Given the description of an element on the screen output the (x, y) to click on. 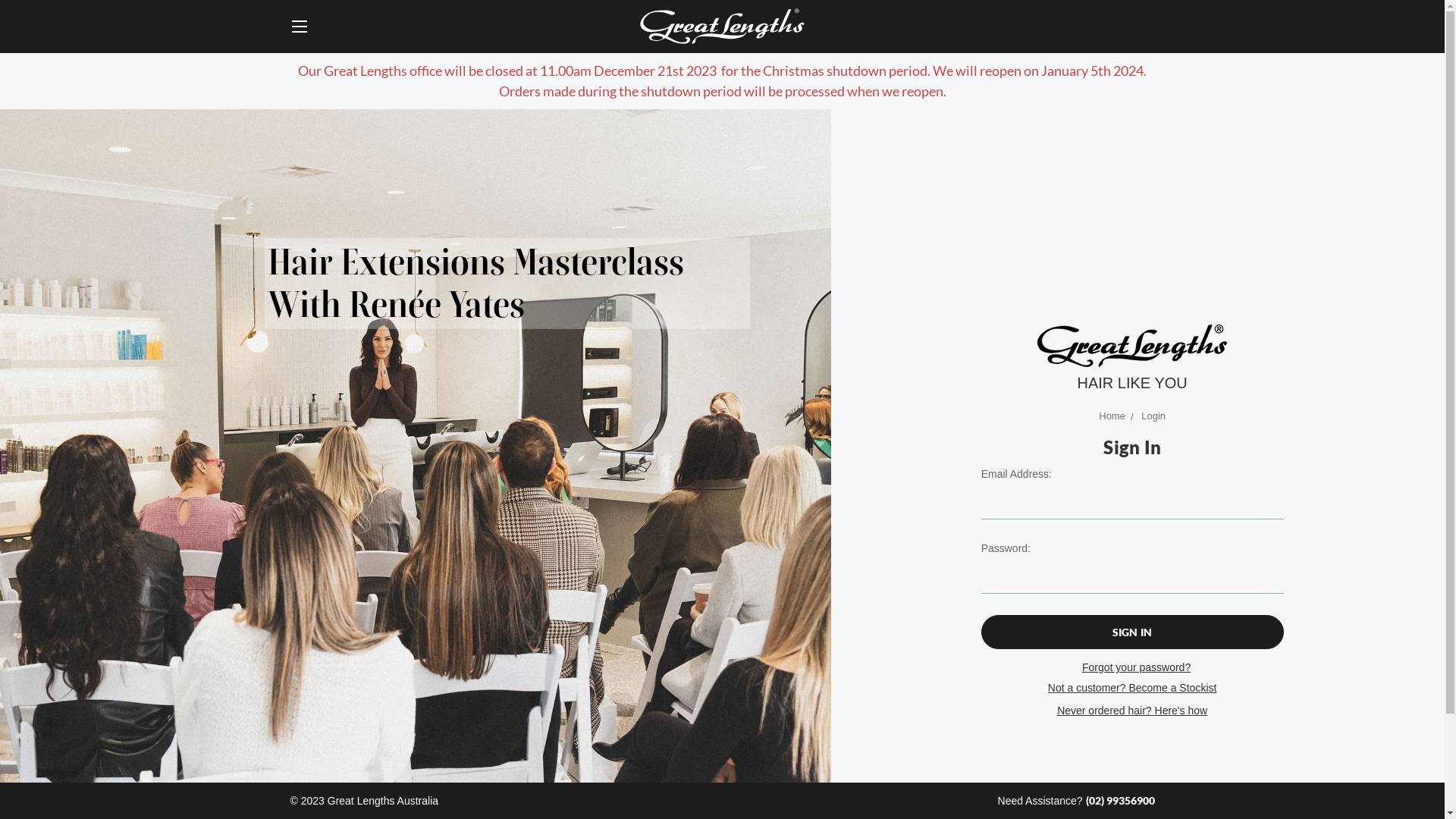
Toggle menu Element type: text (299, 26)
Home Element type: text (1111, 415)
Forgot your password? Element type: text (1136, 666)
Great Lengths Australia Element type: hover (1131, 345)
Never ordered hair? Here's how Element type: text (1132, 710)
Sign in Element type: text (1132, 632)
Not a customer? Become a Stockist Element type: text (1132, 687)
(02) 99356900 Element type: text (1119, 799)
Great Lengths Australia Element type: hover (722, 26)
